Given the description of an element on the screen output the (x, y) to click on. 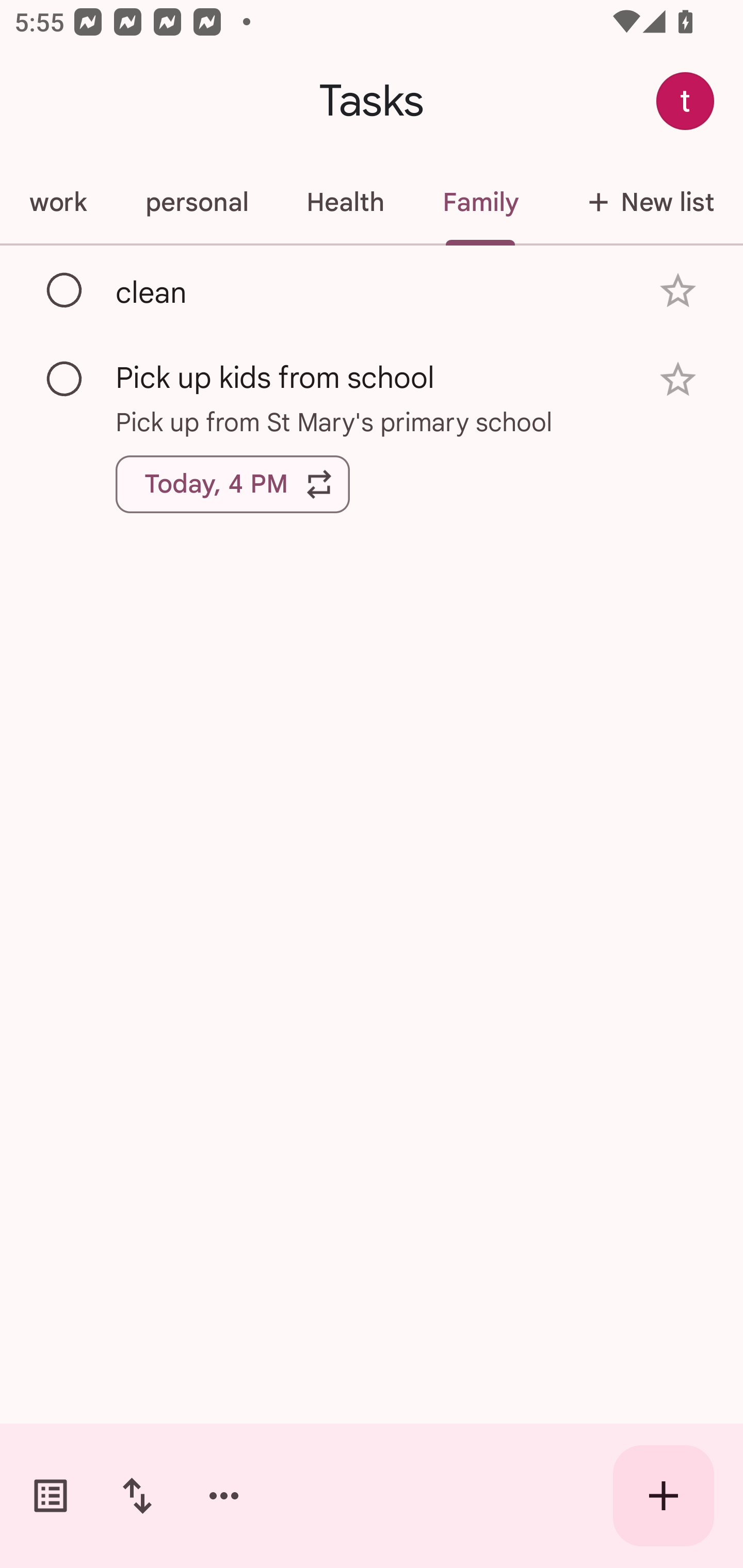
work (57, 202)
personal (196, 202)
Health (345, 202)
New list (645, 202)
Add star (677, 290)
Mark as complete (64, 290)
Add star (677, 379)
Mark as complete (64, 379)
Pick up from St Mary's primary school (371, 421)
Today, 4 PM (232, 484)
Switch task lists (50, 1495)
Create new task (663, 1495)
Change sort order (136, 1495)
More options (223, 1495)
